Given the description of an element on the screen output the (x, y) to click on. 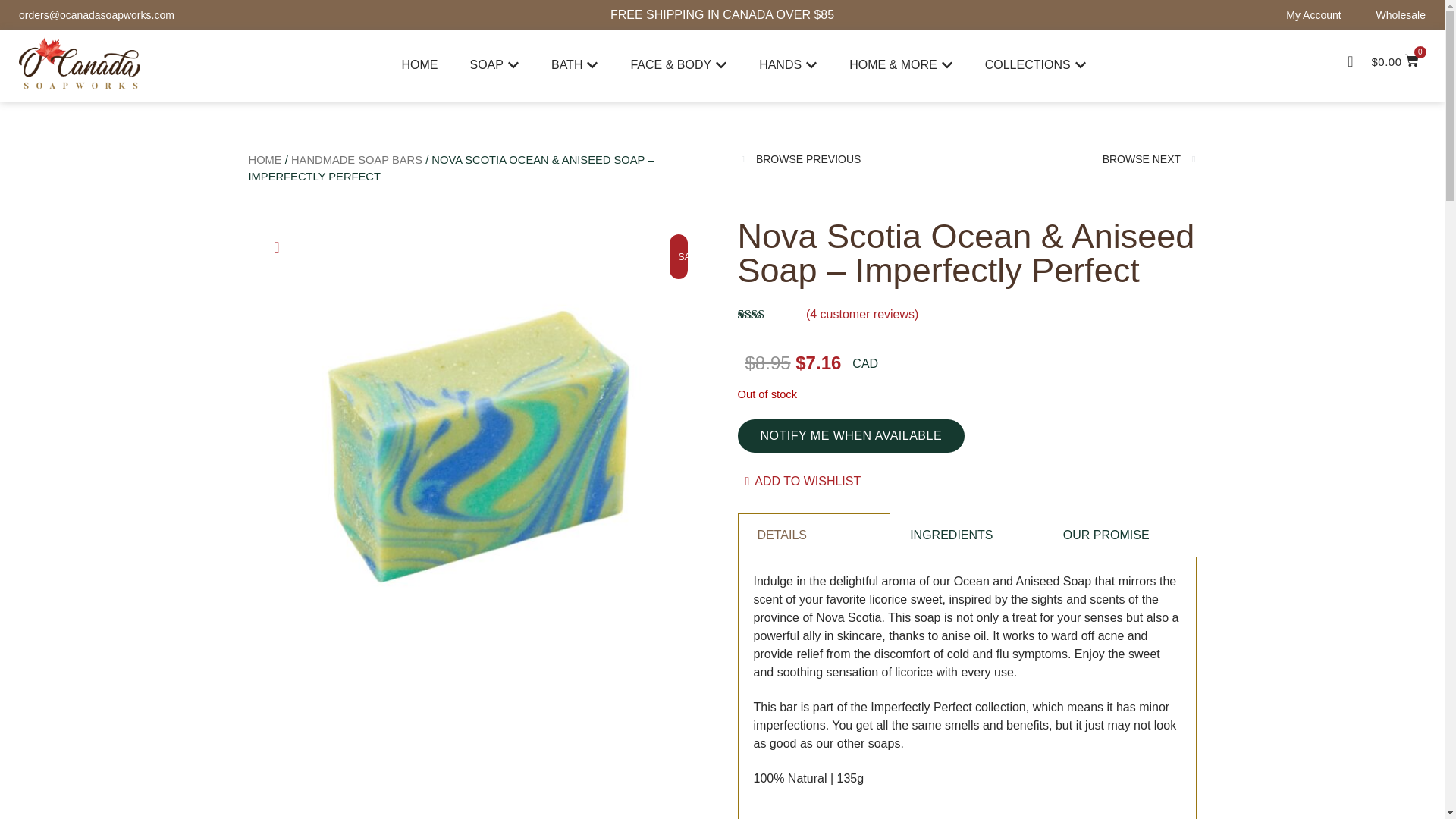
HOME (419, 65)
Wholesale (1400, 15)
Notify me when available (849, 435)
My Account (1312, 15)
